Given the description of an element on the screen output the (x, y) to click on. 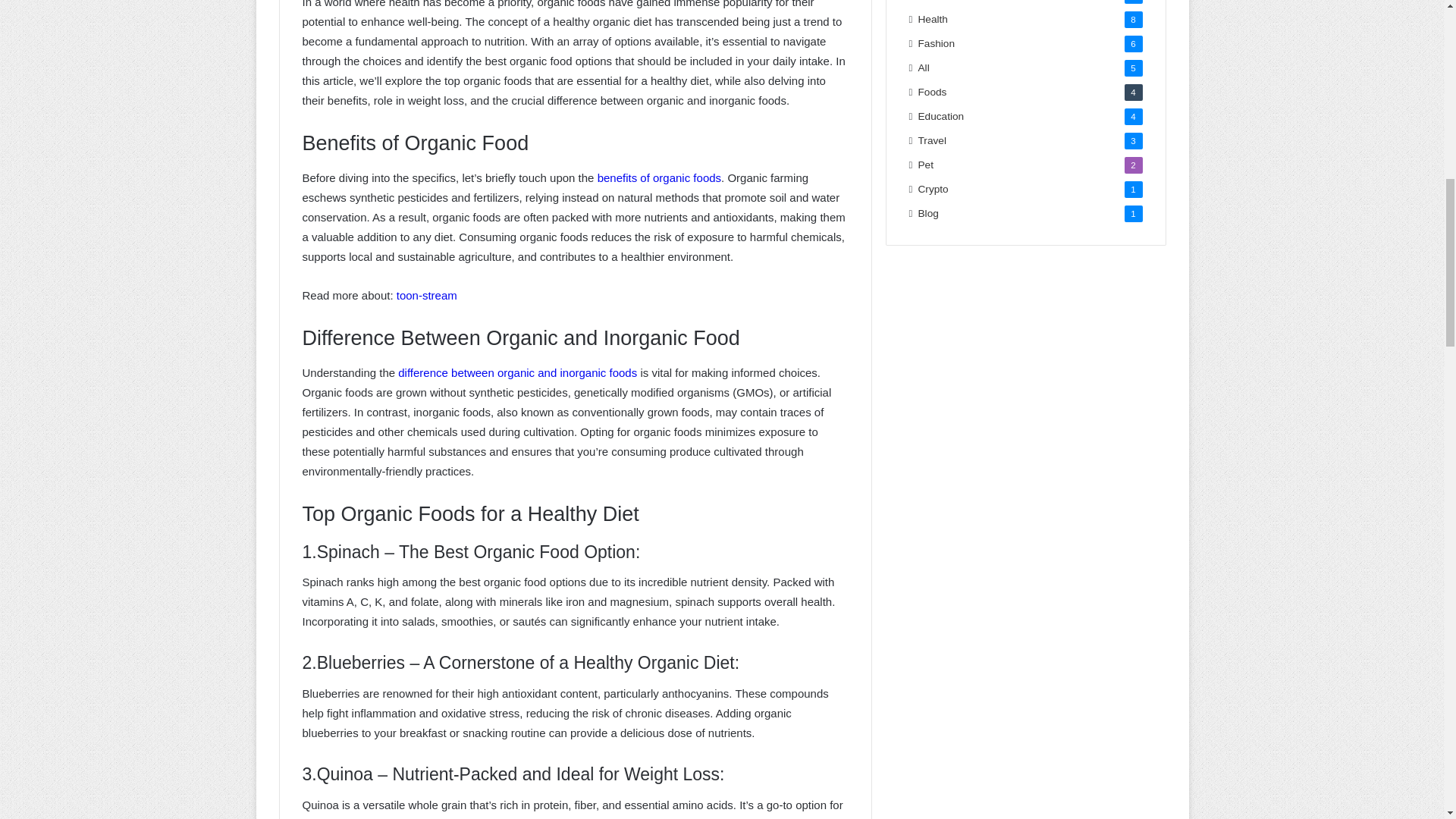
benefits of organic foods (658, 177)
difference between organic and inorganic foods (517, 372)
toon-stream (426, 295)
